Given the description of an element on the screen output the (x, y) to click on. 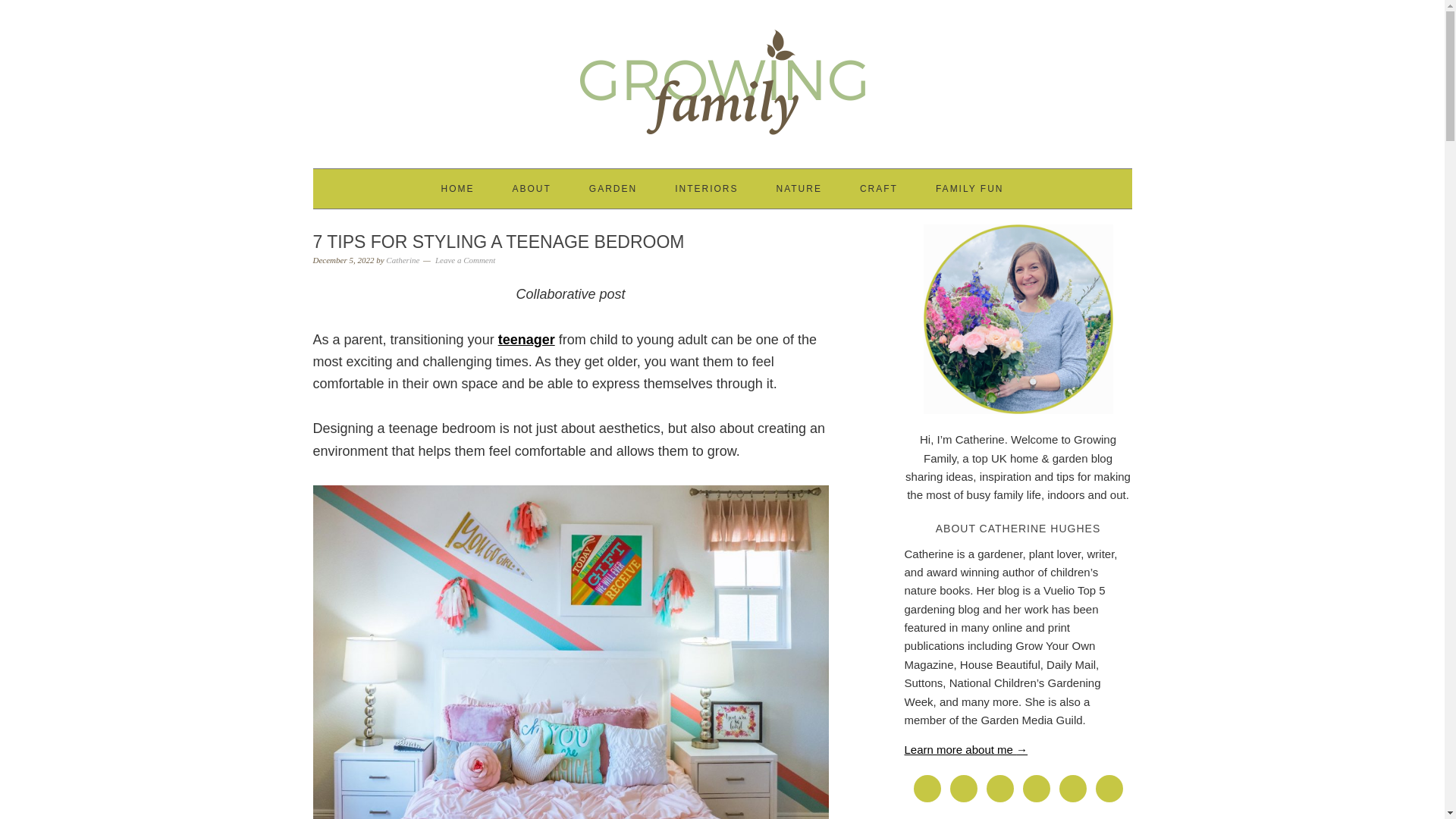
NATURE (798, 188)
HOME (457, 188)
ABOUT (531, 188)
Leave a Comment (465, 259)
Catherine (402, 259)
teenager (525, 339)
FAMILY FUN (970, 188)
GROWING FAMILY (722, 77)
GARDEN (613, 188)
INTERIORS (706, 188)
